Given the description of an element on the screen output the (x, y) to click on. 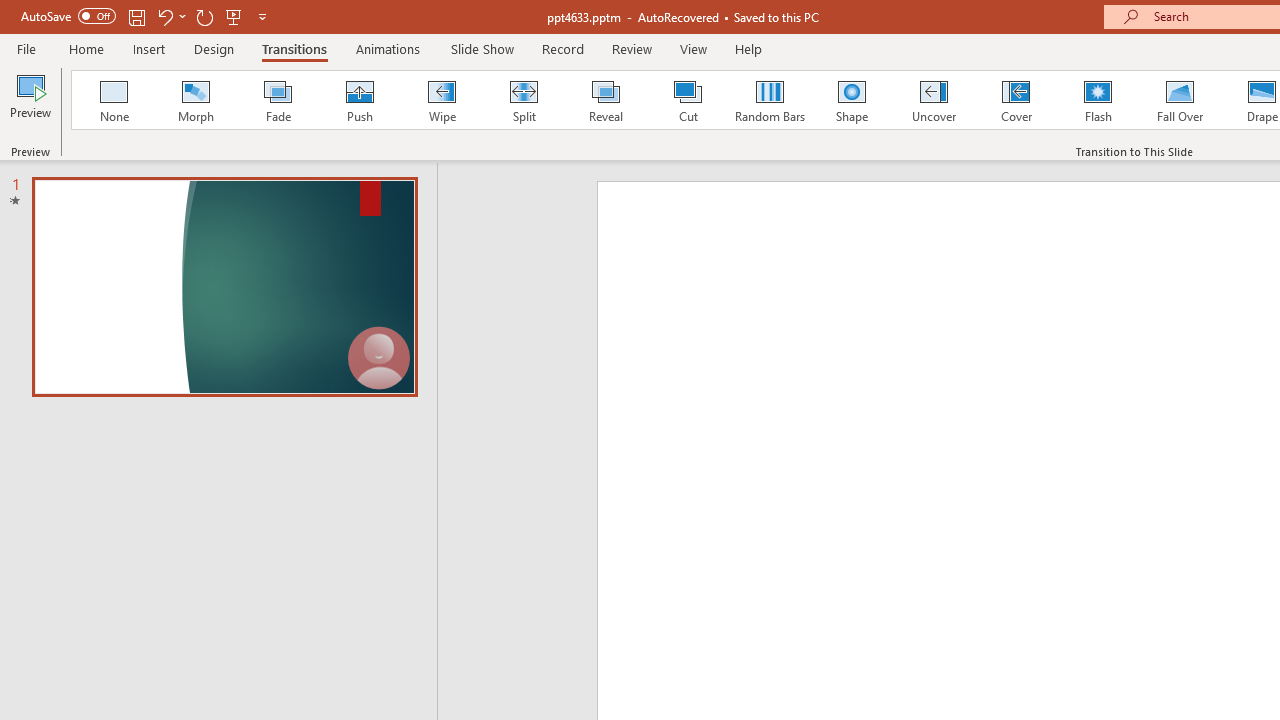
Uncover (934, 100)
Reveal (605, 100)
Random Bars (770, 100)
Morph (195, 100)
Push (359, 100)
